Given the description of an element on the screen output the (x, y) to click on. 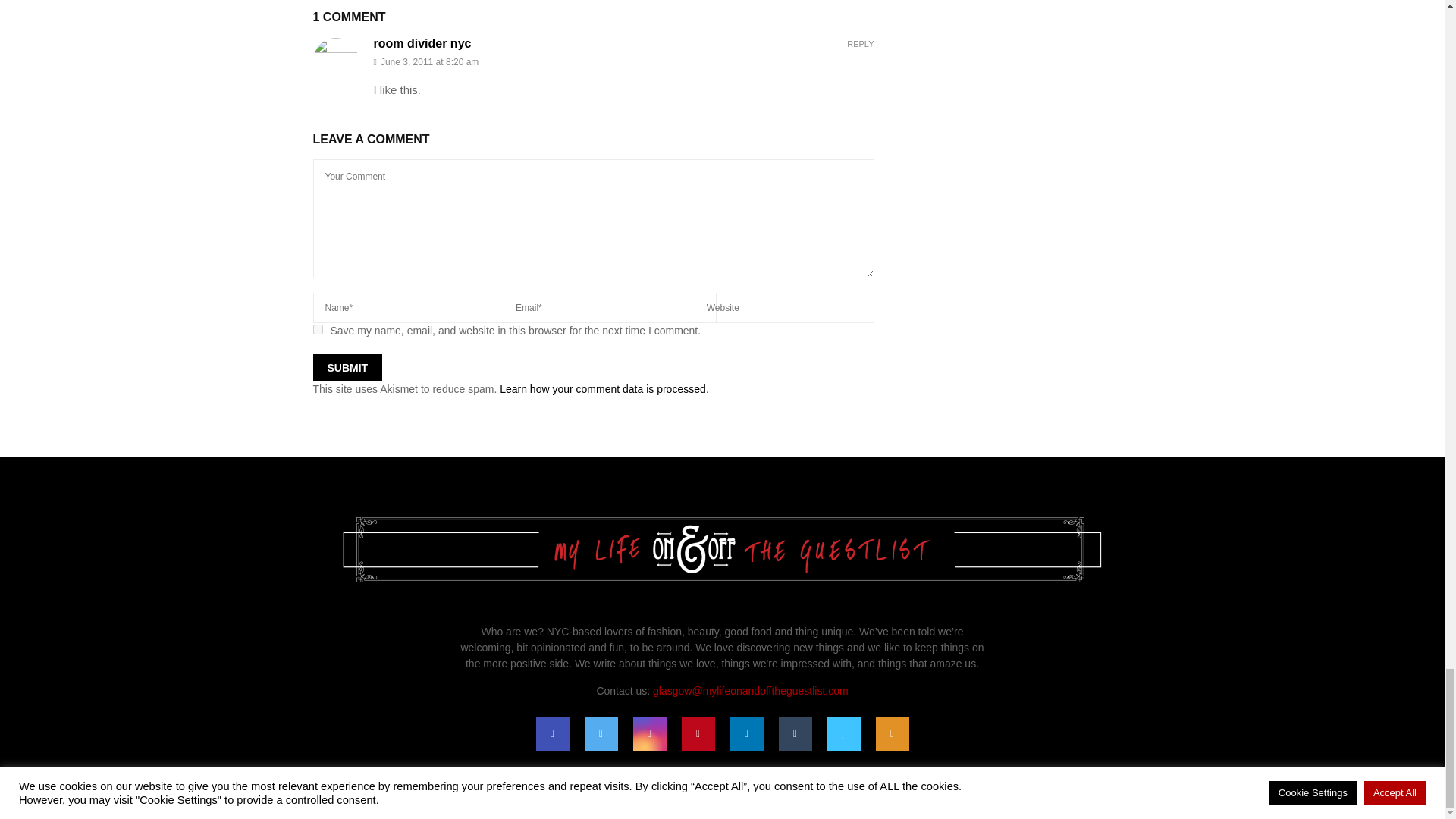
yes (317, 329)
Submit (347, 367)
